Given the description of an element on the screen output the (x, y) to click on. 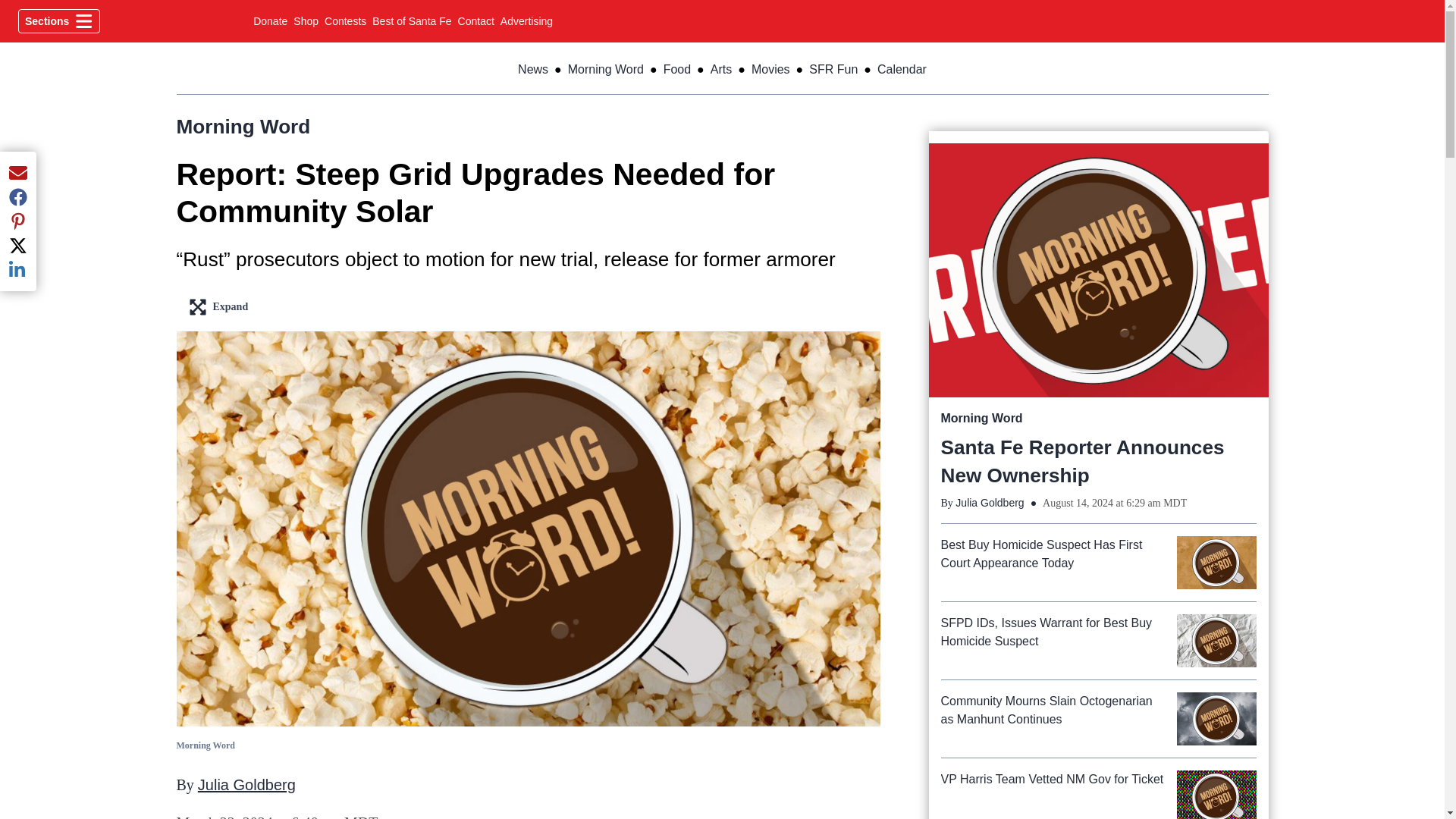
Best of Santa Fe (411, 21)
Donate (269, 21)
Contact (476, 21)
Contests (306, 21)
Advertising (345, 21)
Sections (526, 21)
